Given the description of an element on the screen output the (x, y) to click on. 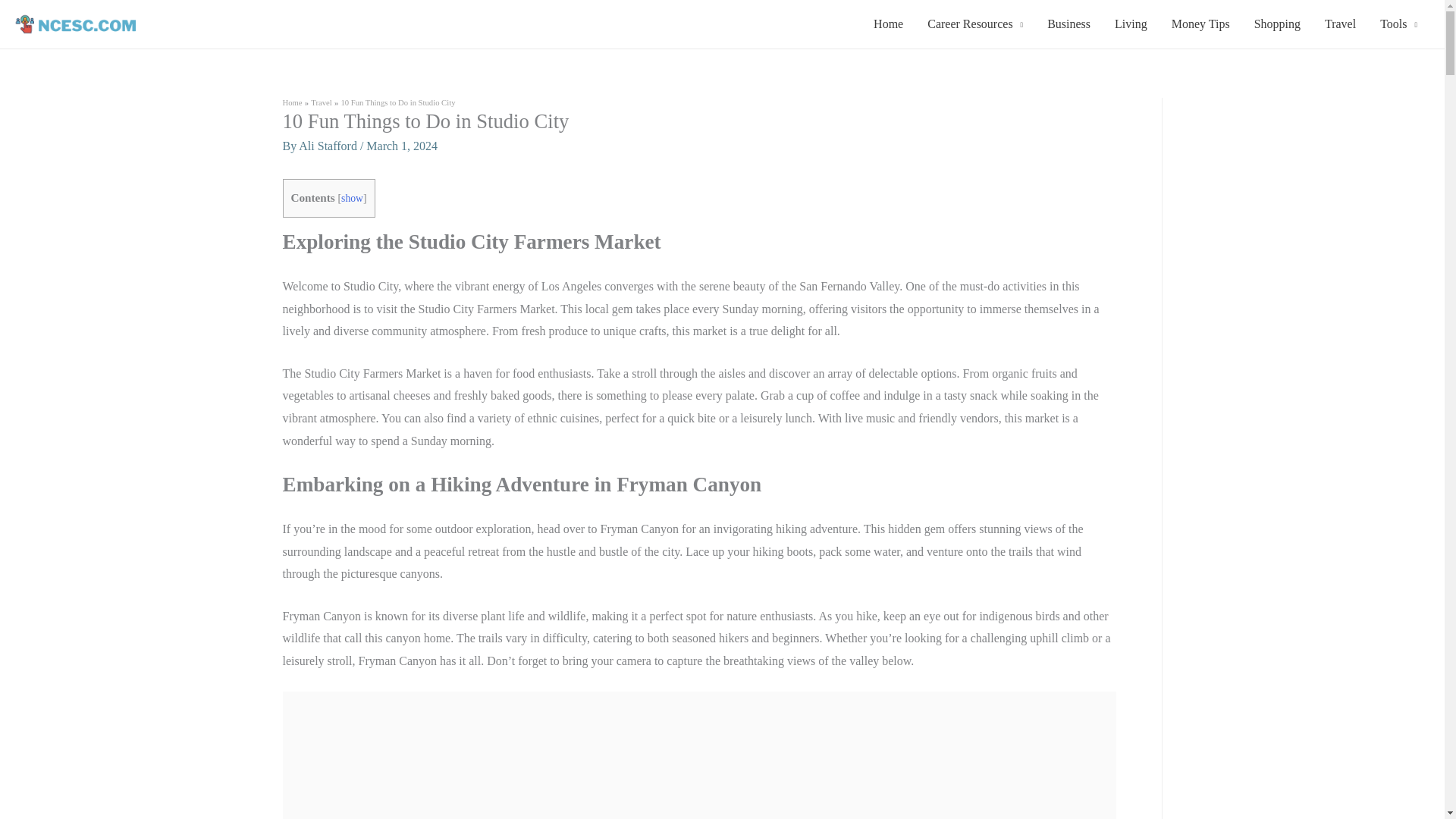
Tools (1398, 24)
View all posts by Ali Stafford (328, 145)
Money Tips (1199, 24)
Business (1068, 24)
Living (1130, 24)
Home (291, 102)
Career Resources (975, 24)
Travel (1340, 24)
Shopping (1277, 24)
Travel (321, 102)
Ali Stafford (328, 145)
Home (888, 24)
show (351, 197)
